Given the description of an element on the screen output the (x, y) to click on. 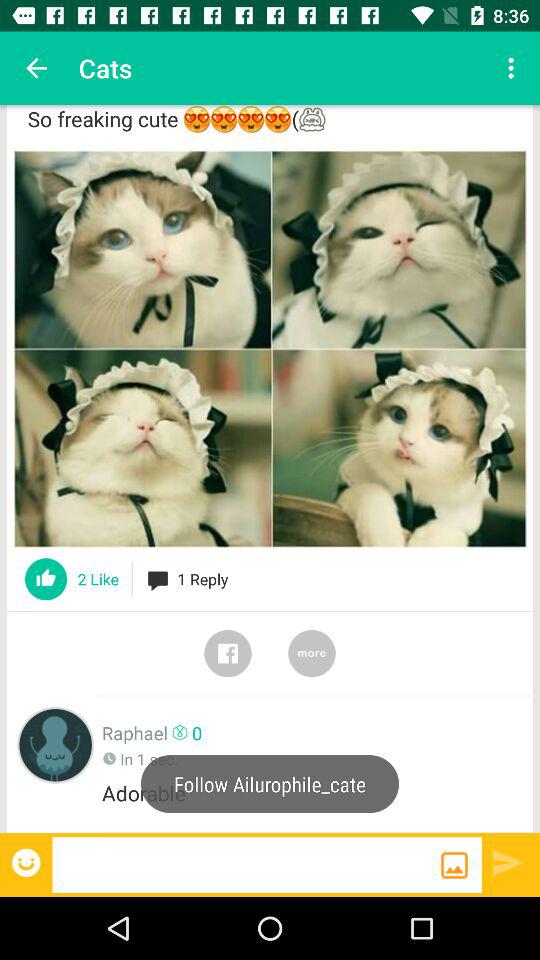
send a message (246, 864)
